Given the description of an element on the screen output the (x, y) to click on. 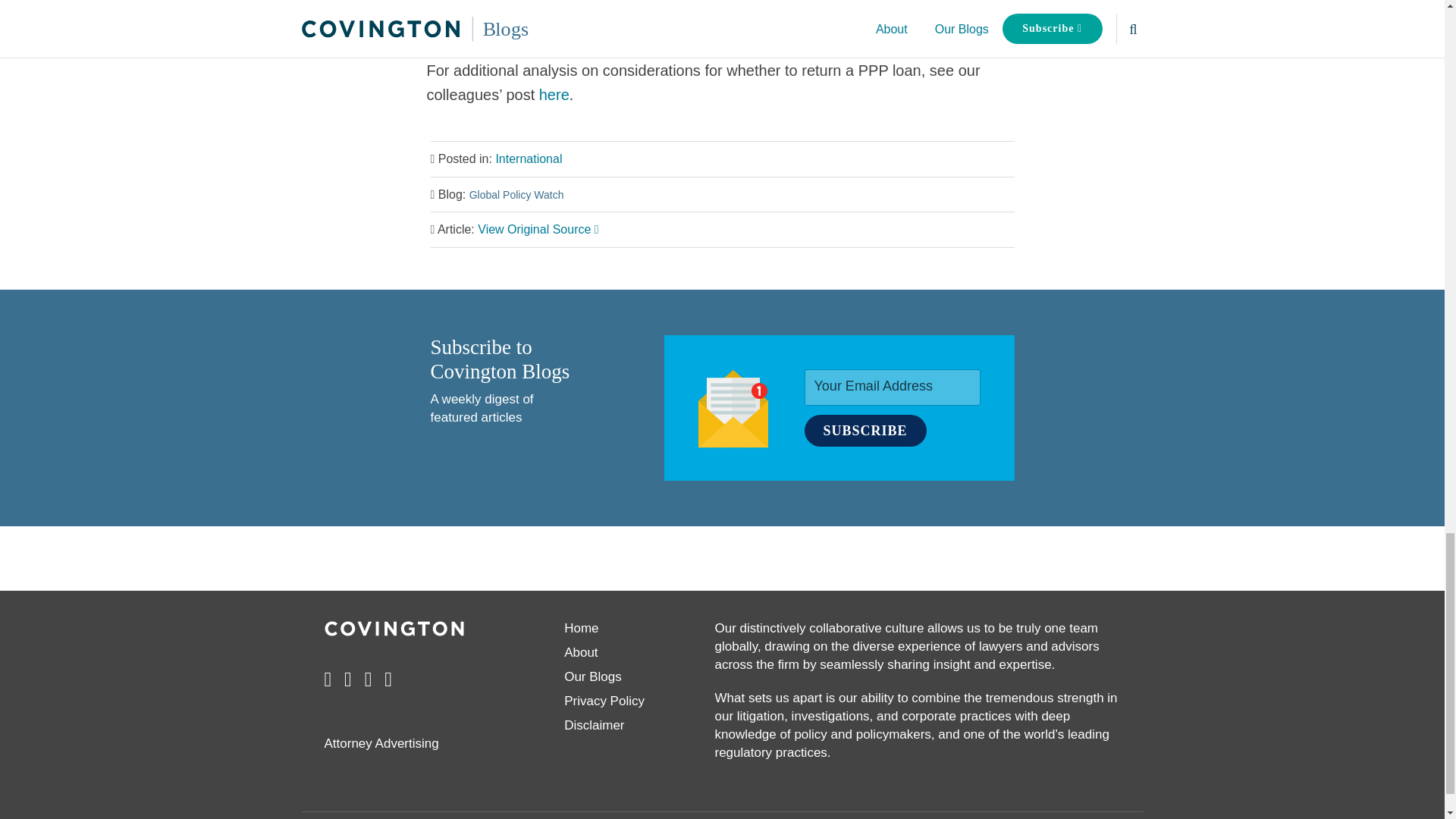
SUBSCRIBE (864, 430)
View Original Source (537, 228)
International (528, 158)
Follow Us on Facebook (327, 679)
Add to your Feed Reader (387, 679)
Privacy Policy (604, 700)
Follow Us on Twitter (368, 679)
Join Us on Linkedin (347, 679)
SUBSCRIBE (864, 430)
About (580, 652)
Disclaimer (594, 725)
Global Policy Watch (516, 194)
Home (581, 627)
Our Blogs (592, 676)
here (553, 94)
